Given the description of an element on the screen output the (x, y) to click on. 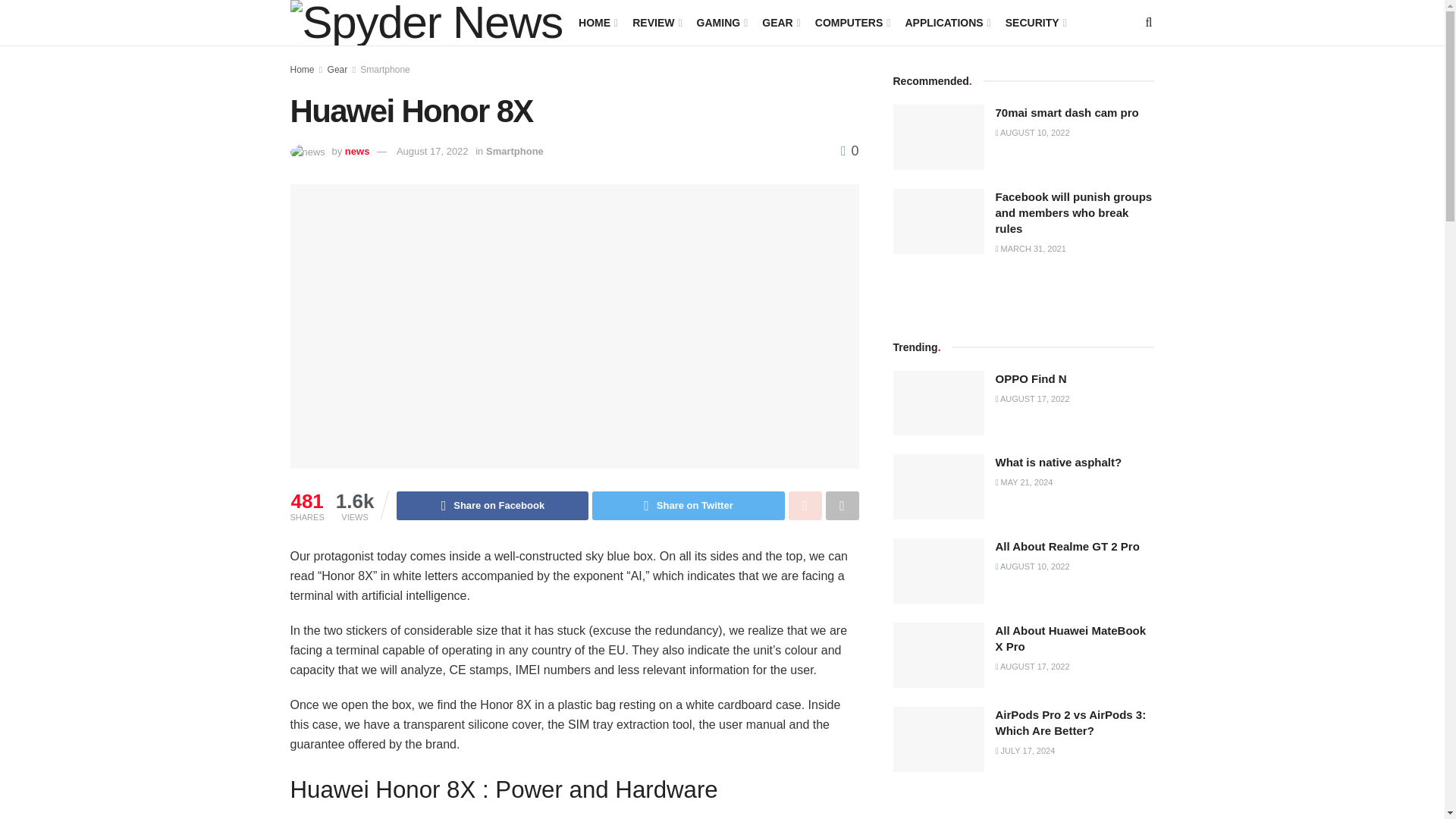
GEAR (779, 22)
HOME (596, 22)
GAMING (721, 22)
REVIEW (655, 22)
